Given the description of an element on the screen output the (x, y) to click on. 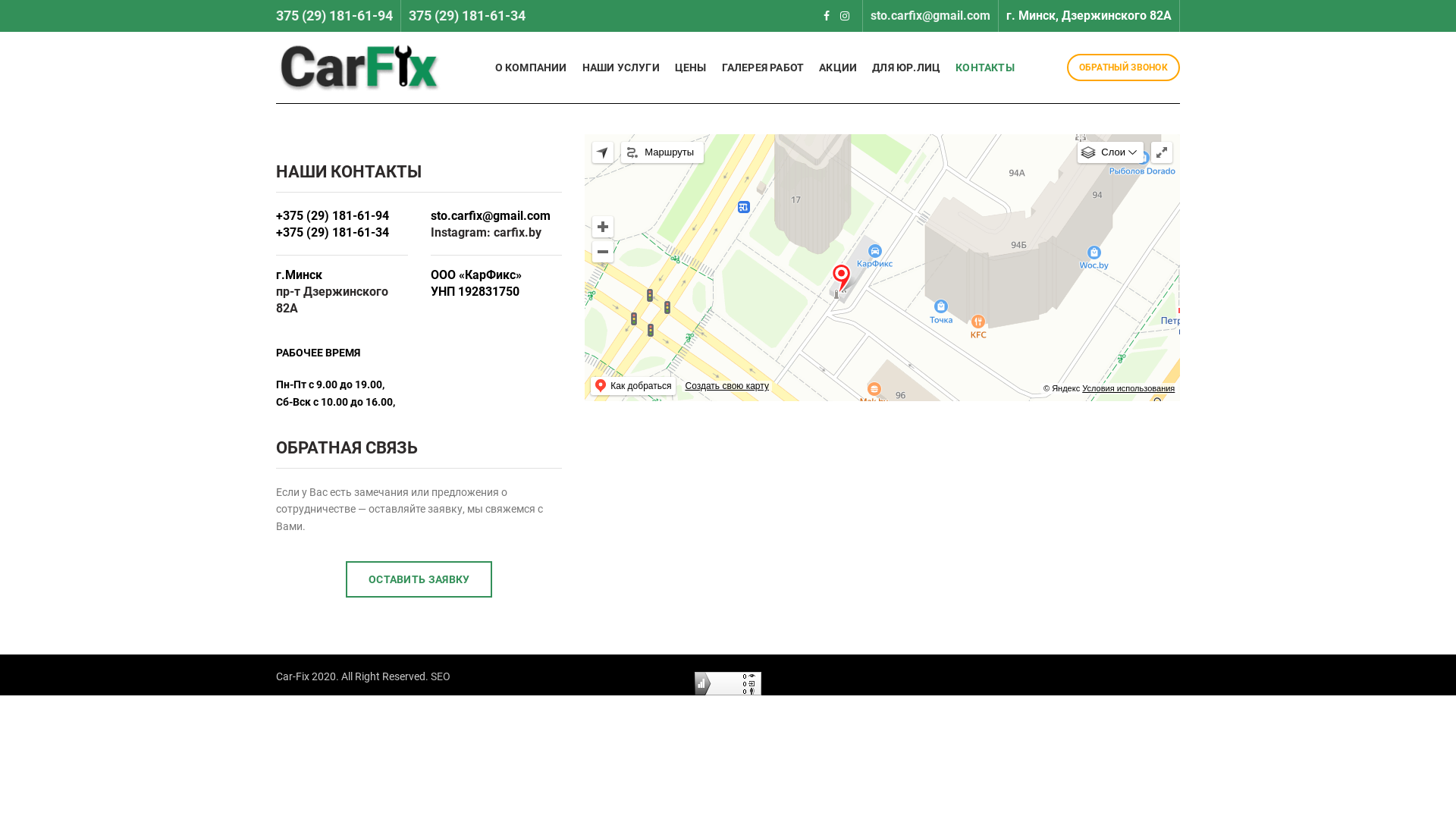
sto.carfix@gmail.com Element type: text (930, 15)
375 (29) 181-61-94 Element type: text (334, 15)
SEO Element type: text (440, 676)
carfix.by Element type: text (517, 232)
Facebook Element type: text (826, 15)
Instagram Element type: text (844, 15)
375 (29) 181-61-34 Element type: text (466, 15)
